Given the description of an element on the screen output the (x, y) to click on. 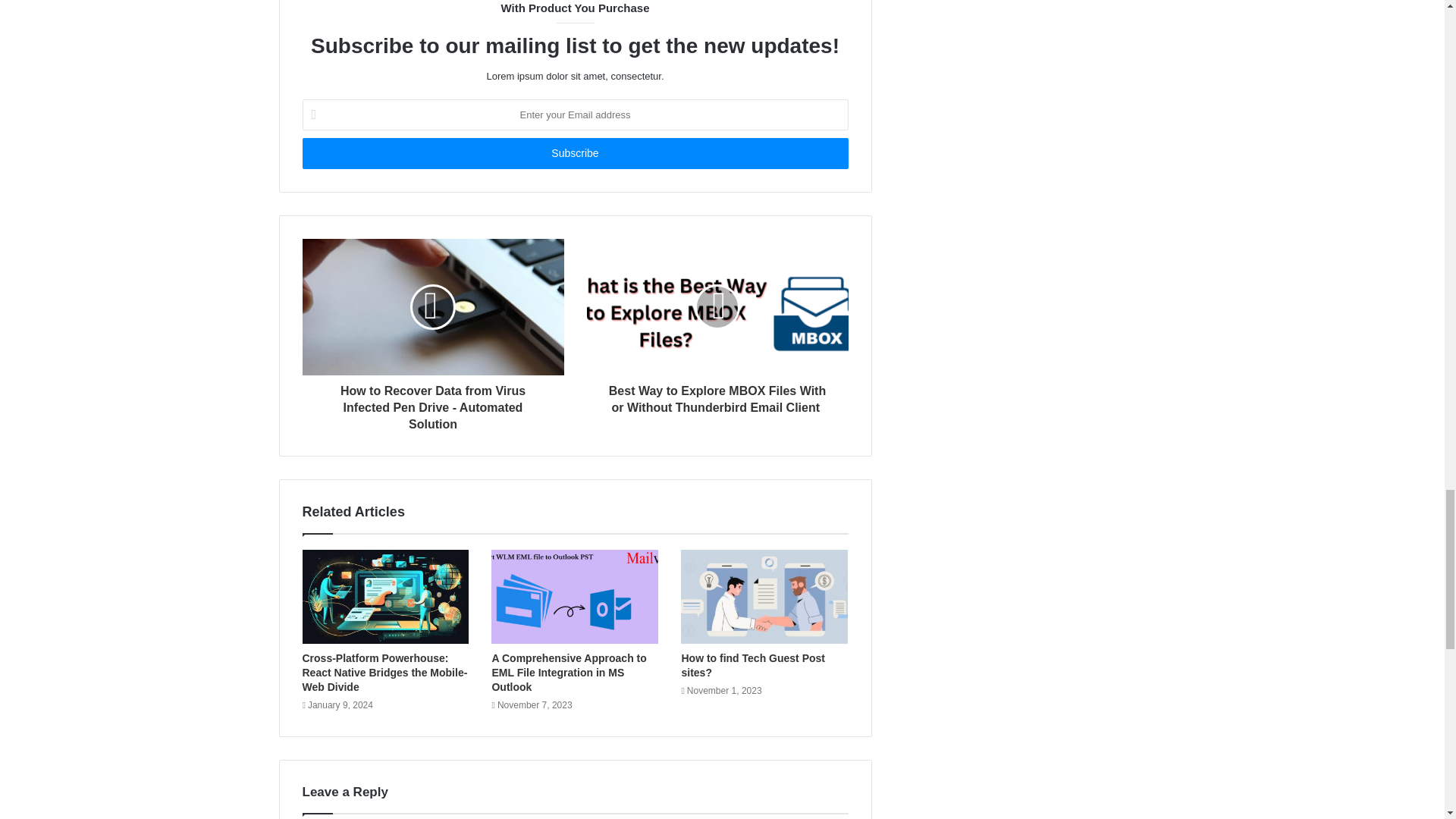
Subscribe (574, 153)
